Given the description of an element on the screen output the (x, y) to click on. 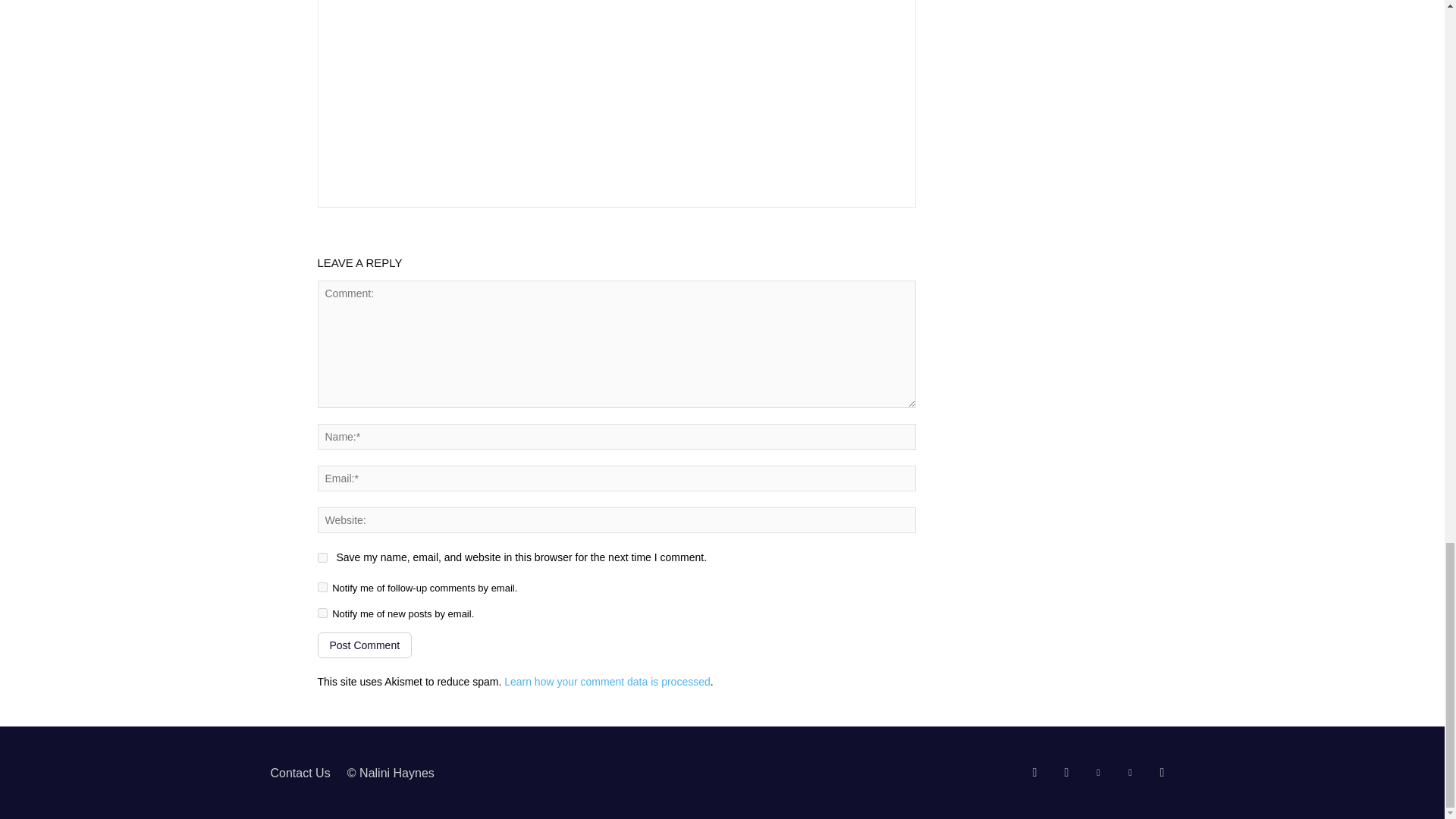
yes (321, 557)
subscribe (321, 613)
subscribe (321, 587)
Post Comment (364, 645)
